Given the description of an element on the screen output the (x, y) to click on. 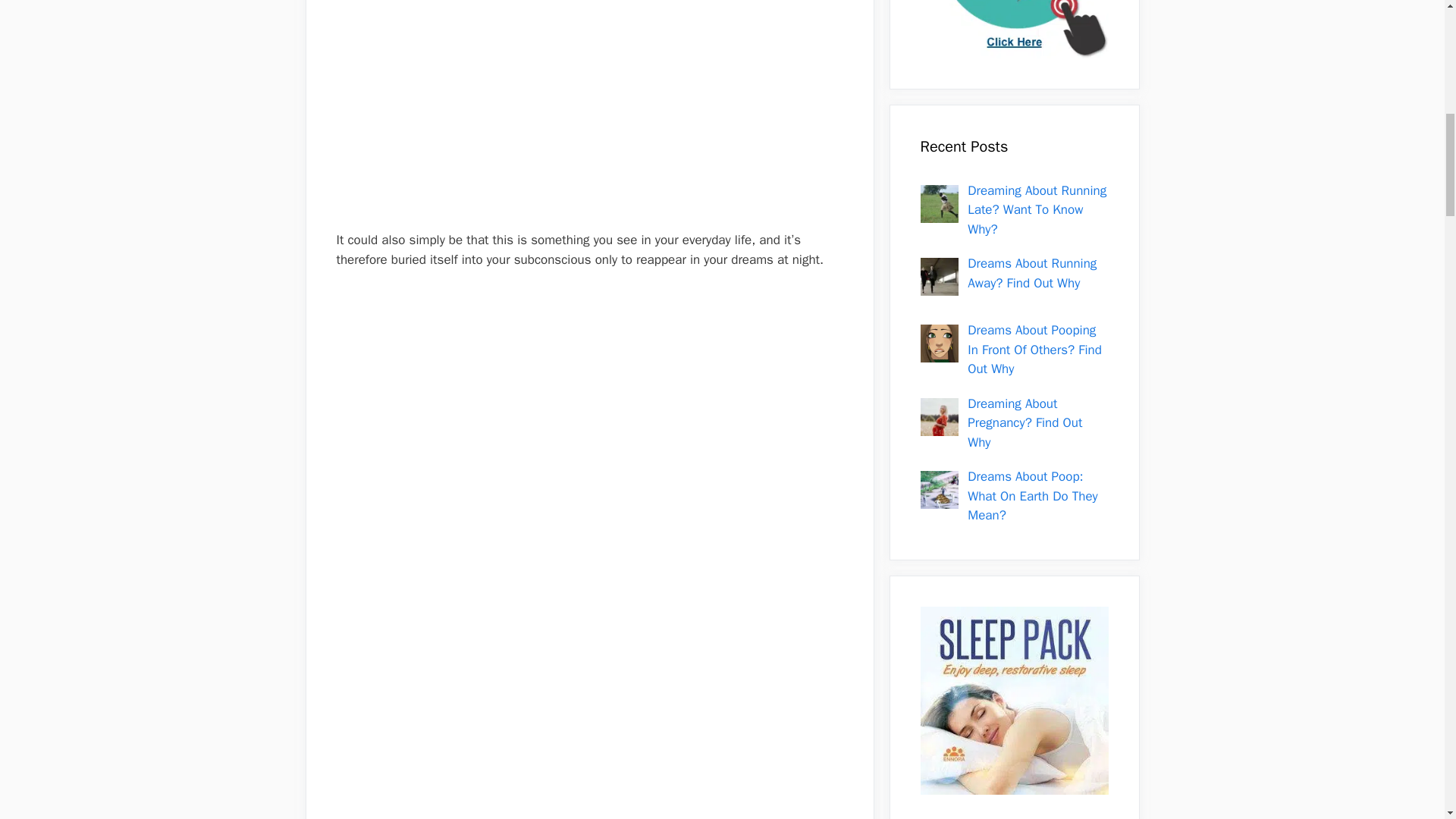
Dreams About Pooping In Front Of Others? Find Out Why (1035, 349)
Dreams About Running Away? Find Out Why (1032, 273)
Dreams About Poop: What On Earth Do They Mean? (1032, 495)
Advertisement (589, 124)
Advertisement (589, 790)
Dreaming About Running Late? Want To Know Why? (1037, 209)
Dreaming About Pregnancy? Find Out Why (1024, 422)
